Given the description of an element on the screen output the (x, y) to click on. 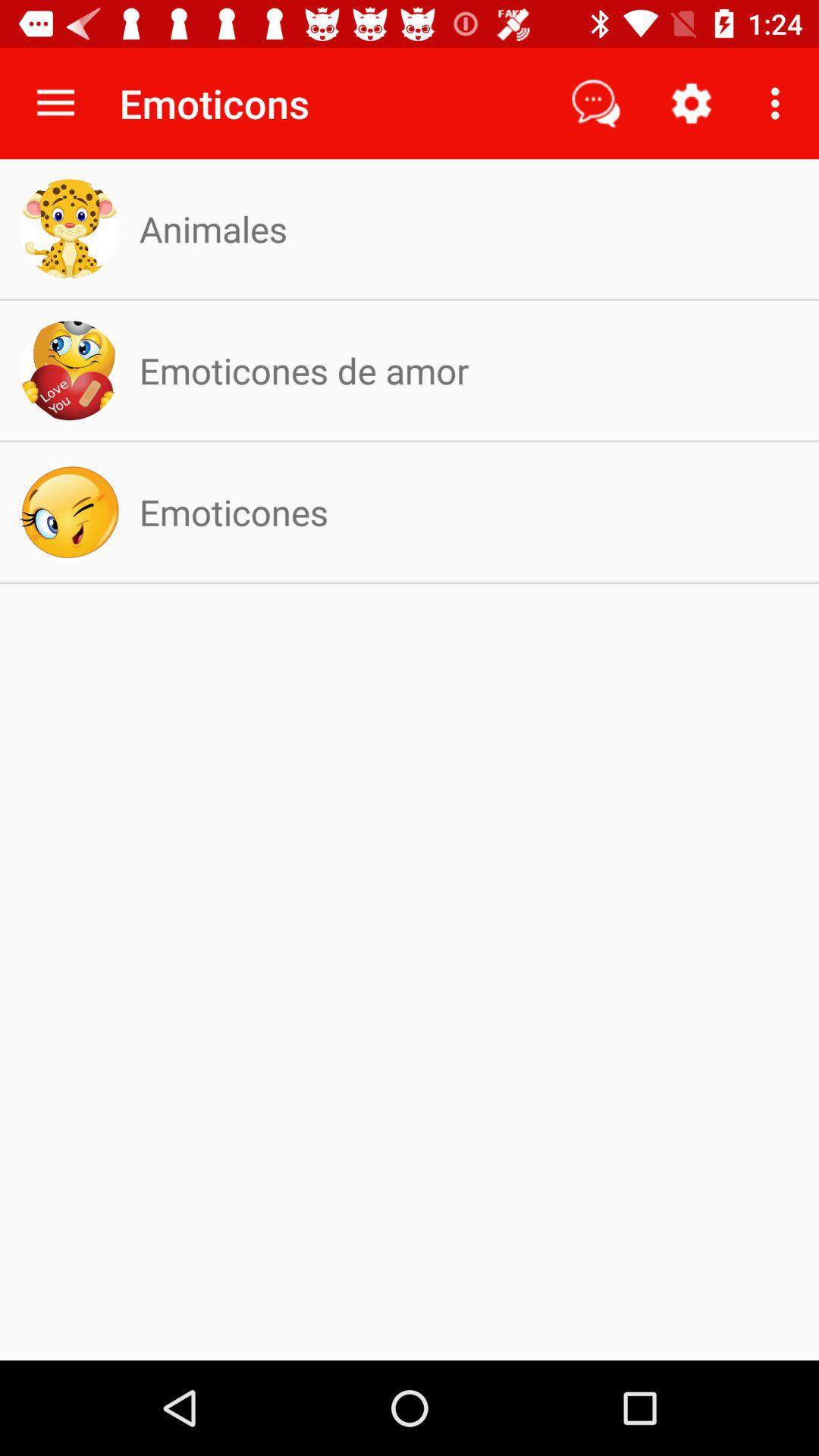
turn off the app below the emoticons app (213, 228)
